Given the description of an element on the screen output the (x, y) to click on. 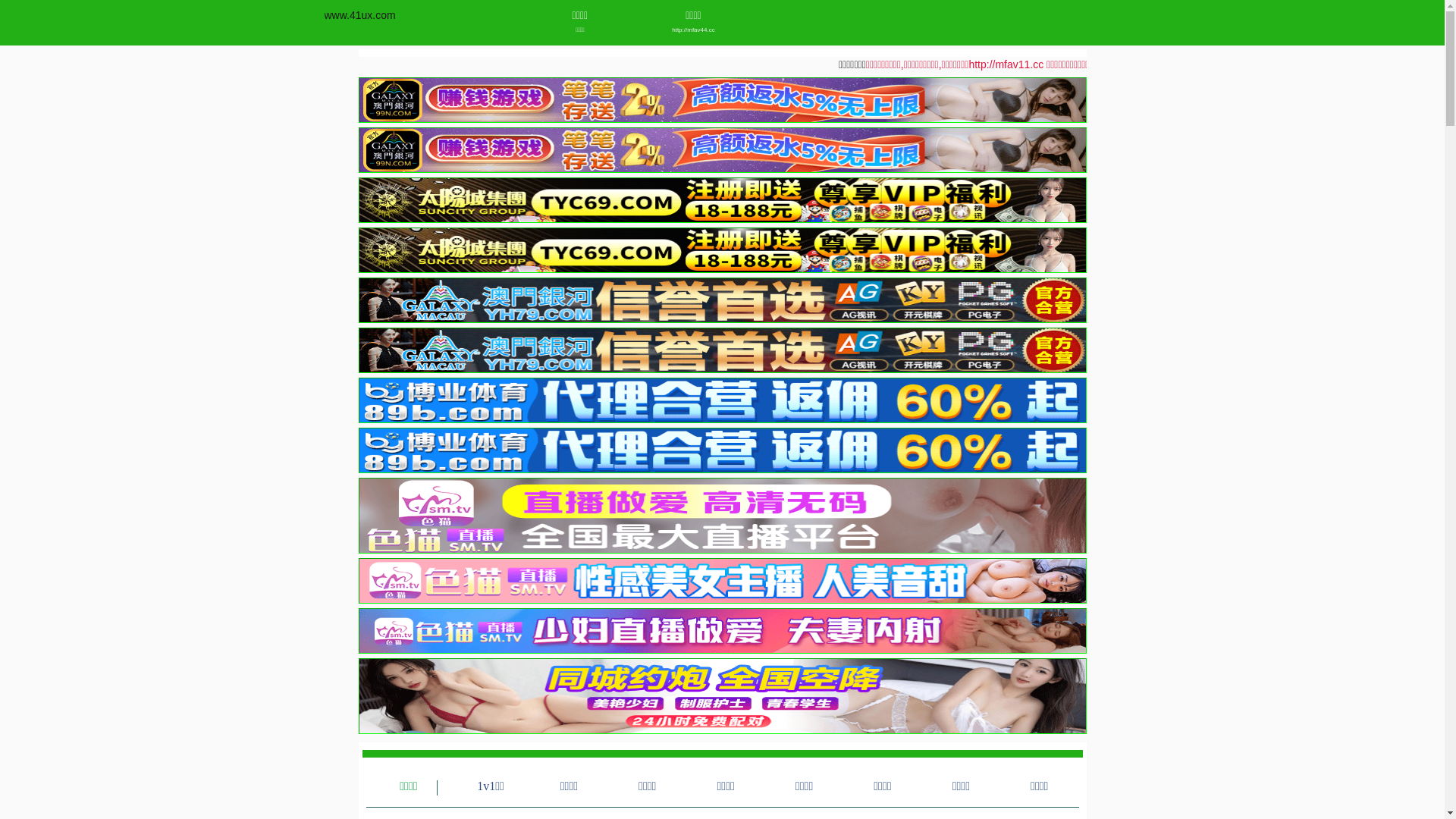
www.41ux.com Element type: text (359, 15)
http://mfav44.cc Element type: text (693, 29)
